Given the description of an element on the screen output the (x, y) to click on. 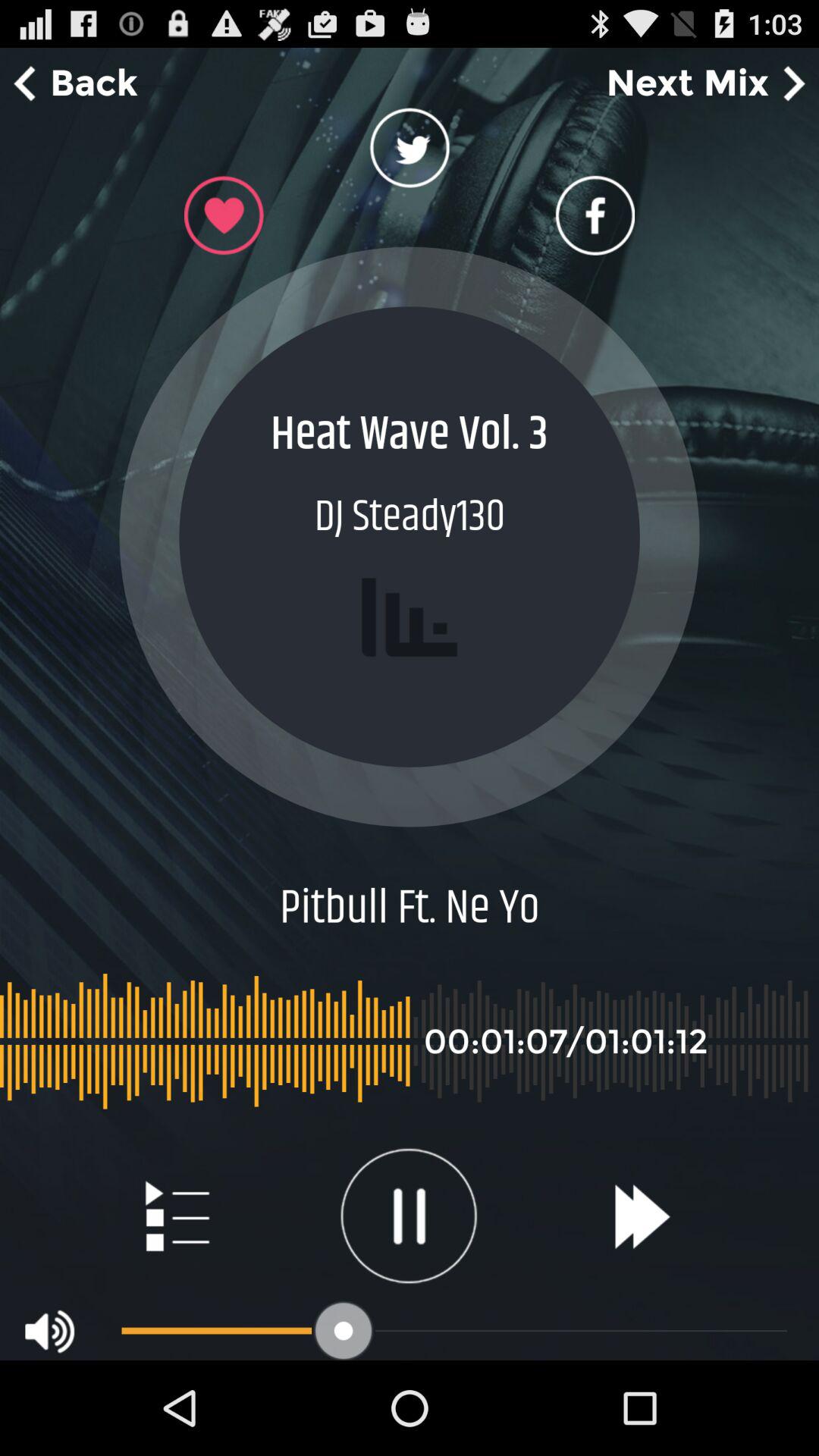
share on twitter (409, 152)
